Given the description of an element on the screen output the (x, y) to click on. 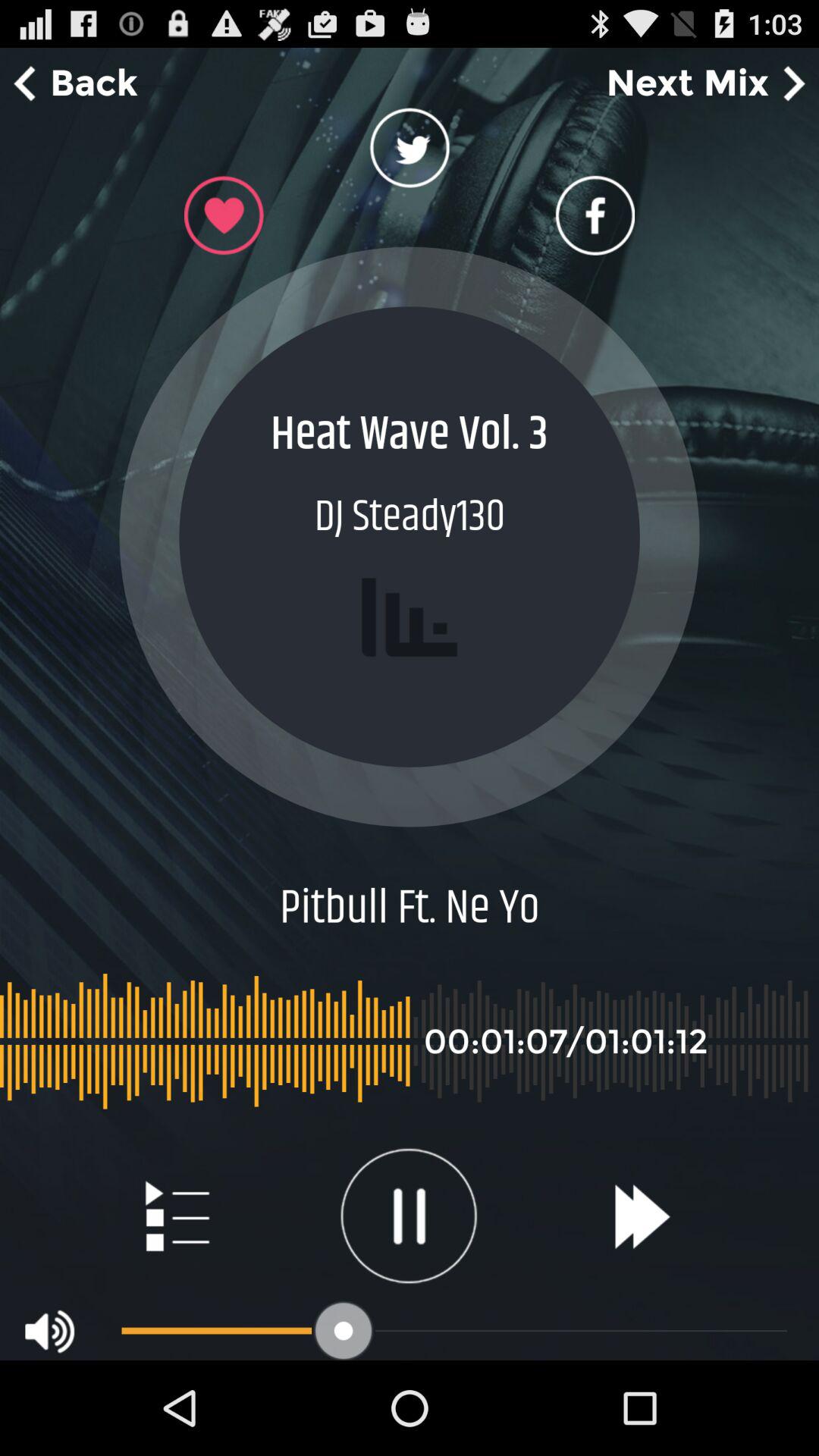
share on twitter (409, 152)
